Given the description of an element on the screen output the (x, y) to click on. 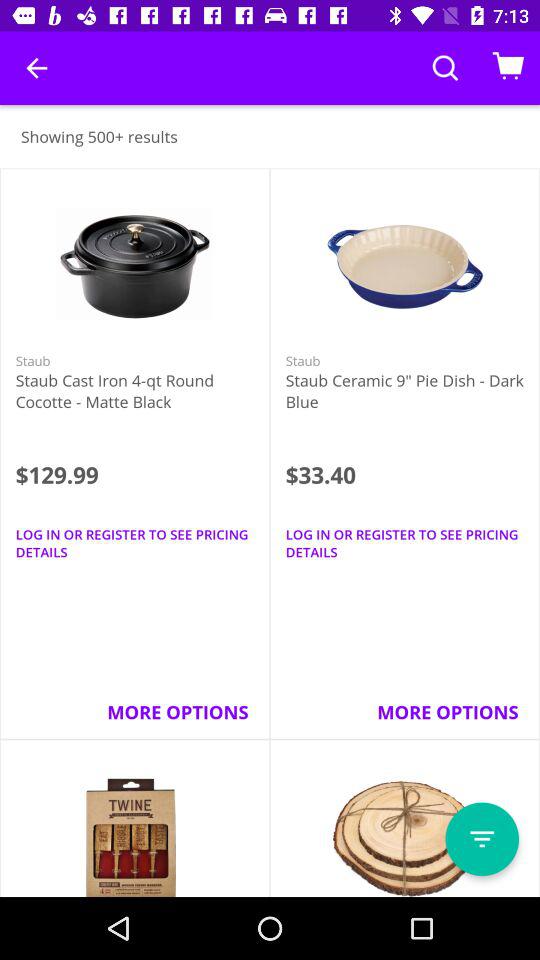
page down (482, 839)
